Given the description of an element on the screen output the (x, y) to click on. 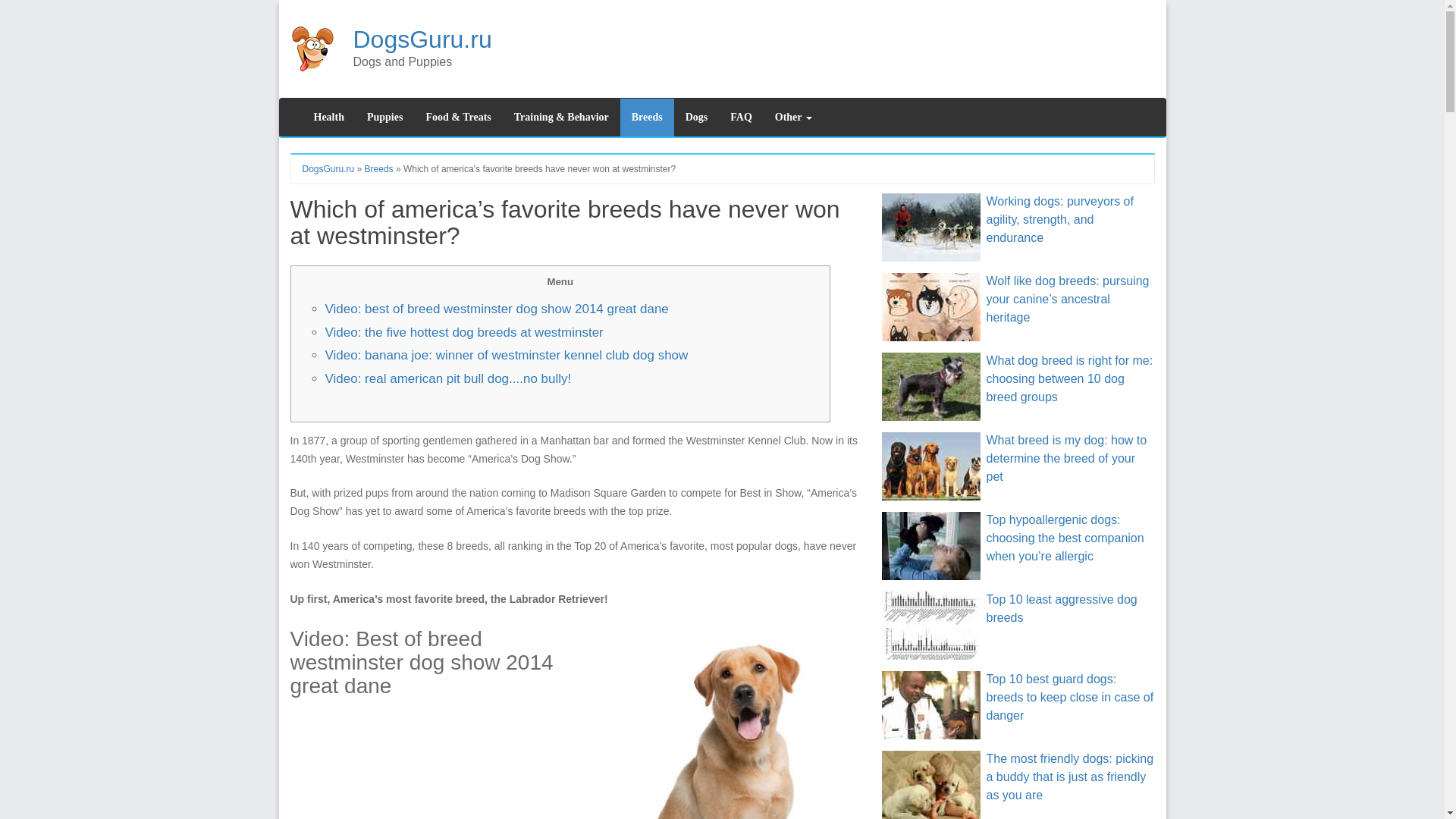
Video: best of breed westminster dog show 2014 great dane (496, 309)
Breeds (379, 168)
DogsGuru.ru (422, 39)
DogsGuru.ru (327, 168)
Puppies (384, 117)
Other (793, 117)
Health (328, 117)
Video: the five hottest dog breeds at westminster (463, 332)
Dogs (696, 117)
Video: real american pit bull dog....no bully! (447, 378)
